Given the description of an element on the screen output the (x, y) to click on. 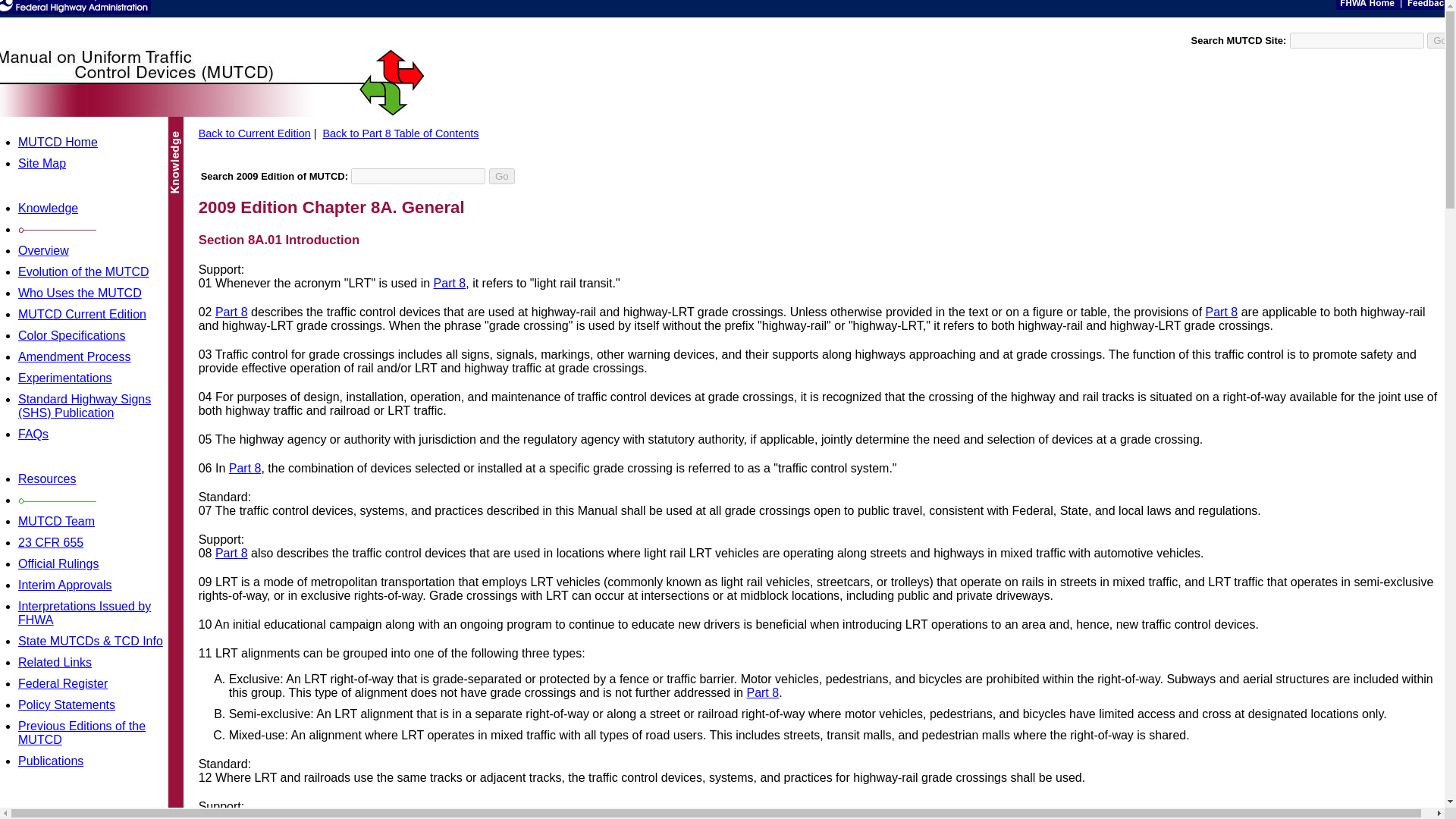
MUTCD Home (57, 141)
Color Specifications (71, 335)
Experimentations (64, 377)
Back to Part 8 Table of Contents (400, 133)
23 CFR 655 (49, 542)
Knowledge (47, 207)
Policy Statements (66, 704)
MUTCD Current Edition (82, 314)
Previous Editions of the MUTCD (81, 732)
Interpretations Issued by FHWA (84, 612)
